Given the description of an element on the screen output the (x, y) to click on. 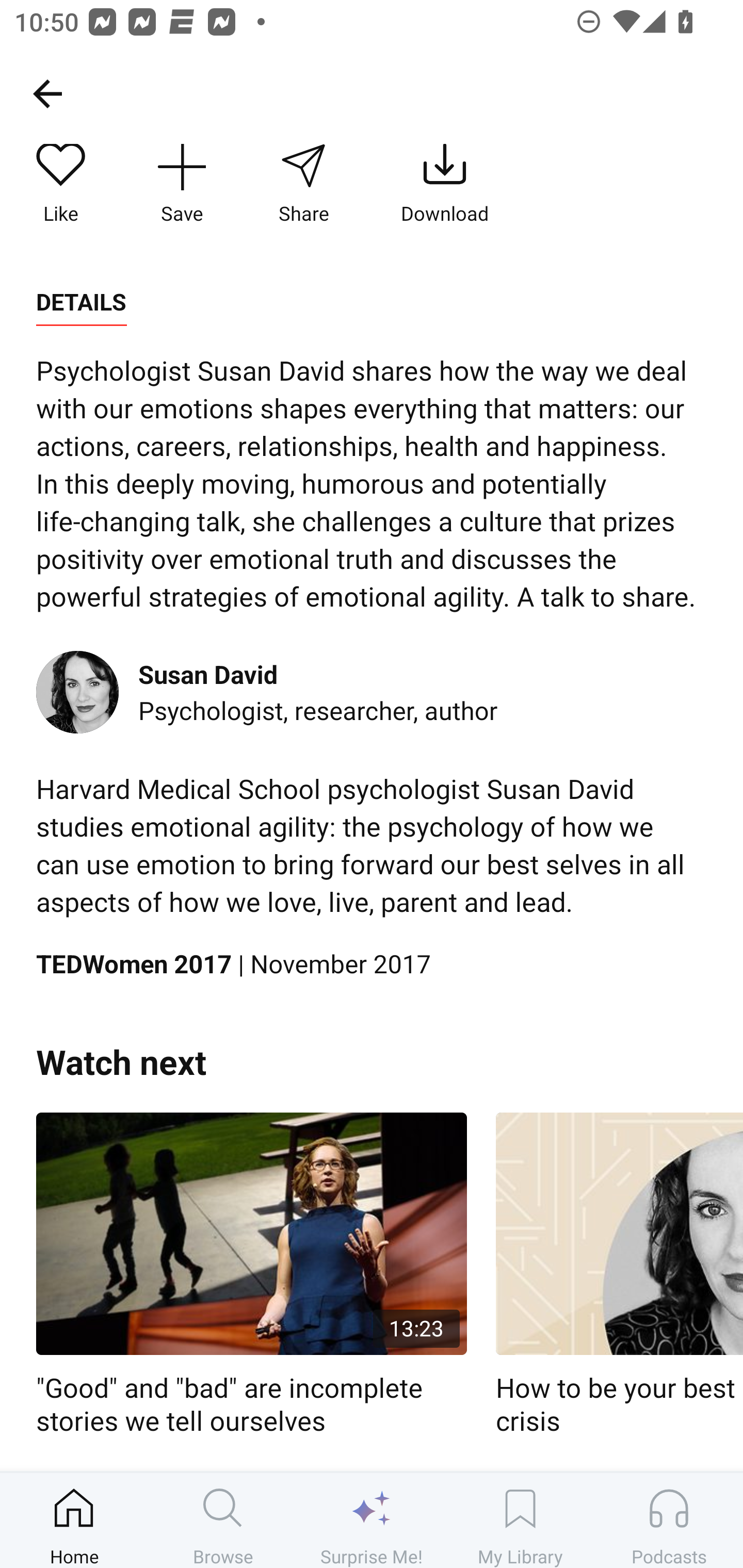
Home, back (47, 92)
Like (60, 184)
Save (181, 184)
Share (302, 184)
Download (444, 184)
DETAILS (80, 302)
How to be your best self in times of crisis (619, 1275)
Home (74, 1520)
Browse (222, 1520)
Surprise Me! (371, 1520)
My Library (519, 1520)
Podcasts (668, 1520)
